Given the description of an element on the screen output the (x, y) to click on. 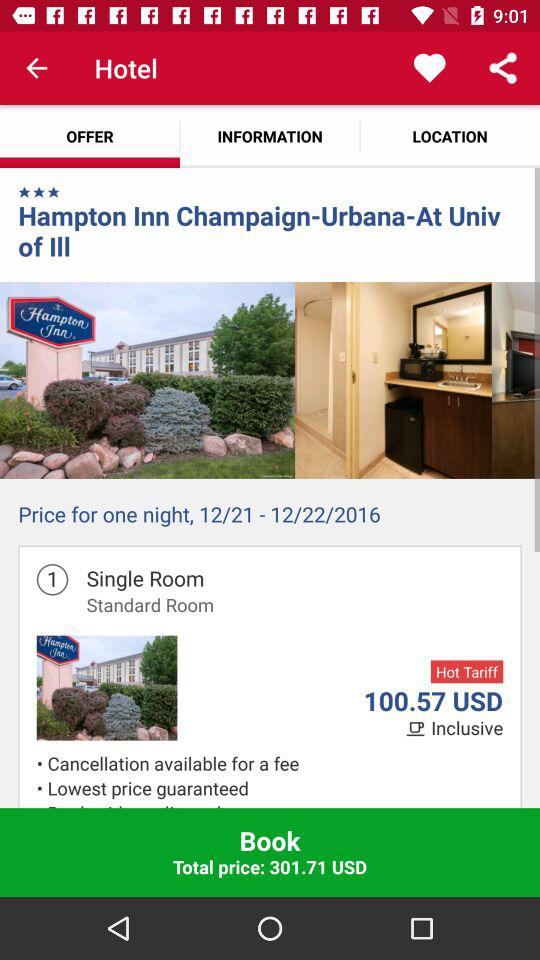
select the icon next to the hotel icon (36, 68)
